Given the description of an element on the screen output the (x, y) to click on. 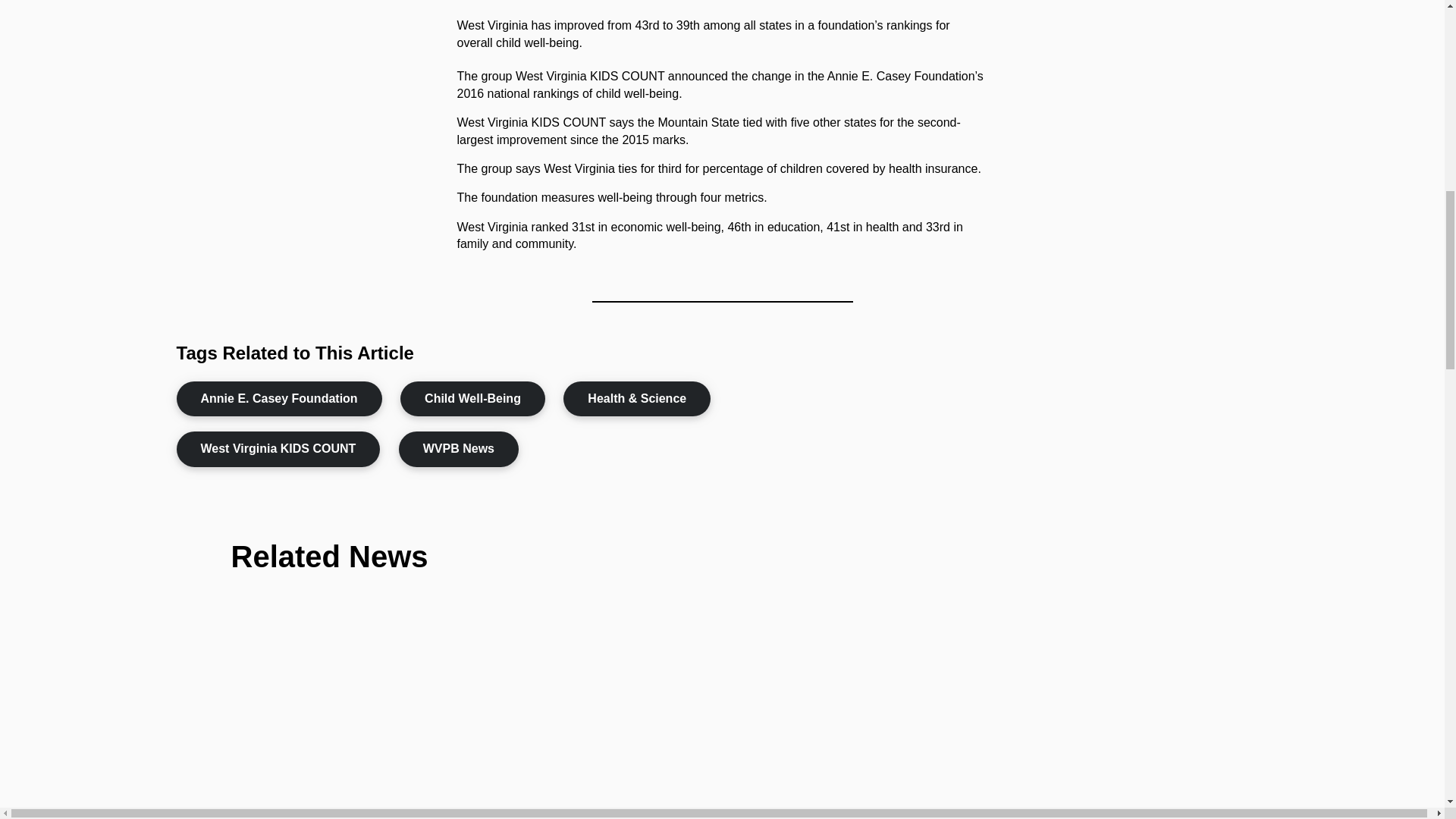
WVPB News (458, 448)
Child Well-Being (472, 398)
Annie E. Casey Foundation (278, 398)
West Virginia KIDS COUNT (278, 448)
